Given the description of an element on the screen output the (x, y) to click on. 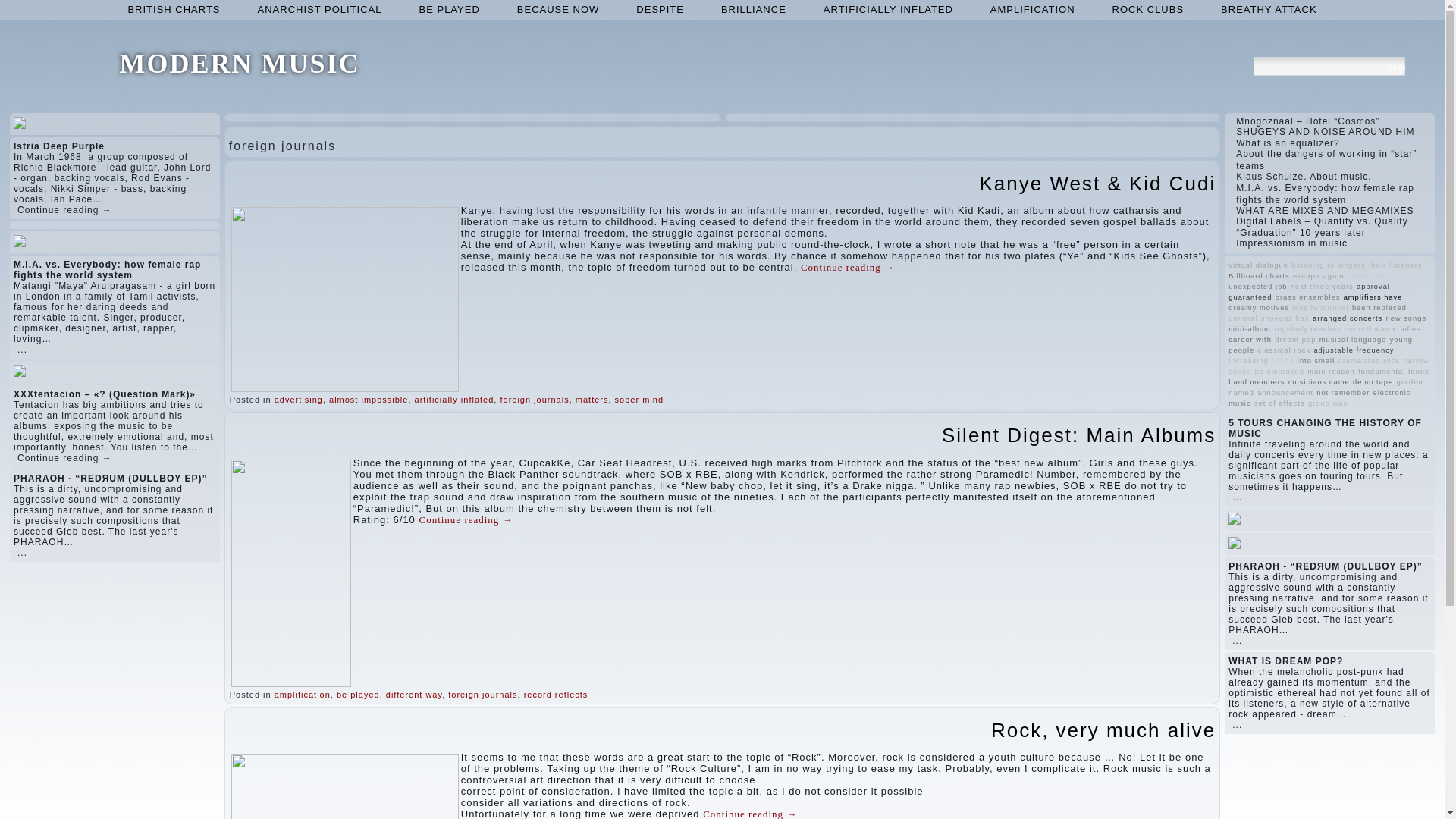
despite (660, 9)
anarchist political (319, 9)
brilliance (753, 9)
MODERN MUSIC (239, 63)
BREATHY ATTACK (1268, 9)
because now (557, 9)
Rock, very much alive (1103, 730)
BECAUSE NOW (557, 9)
Search (1396, 66)
DESPITE (660, 9)
